Given the description of an element on the screen output the (x, y) to click on. 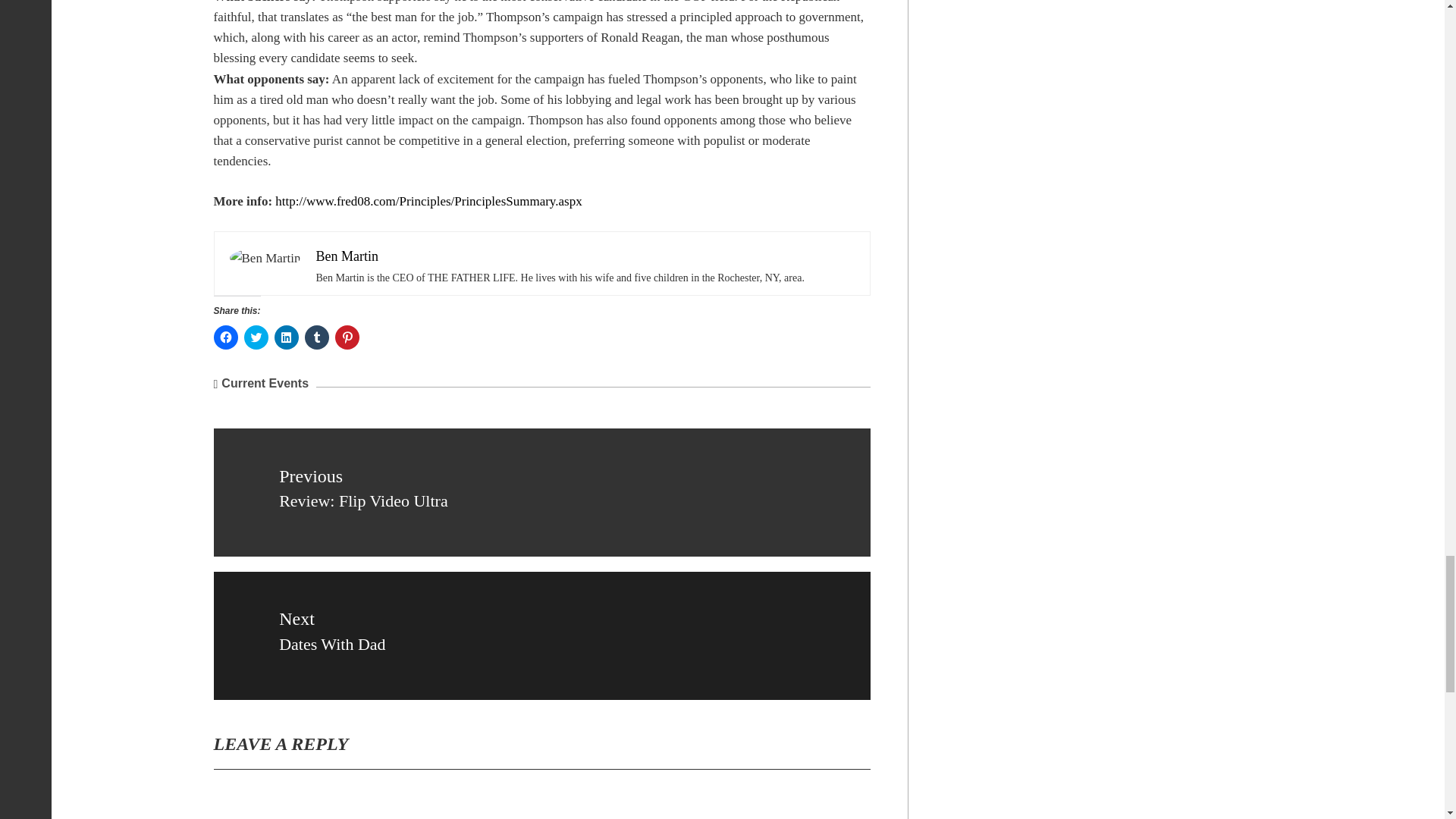
Click to share on Pinterest (346, 337)
Click to share on Facebook (226, 337)
Click to share on Twitter (255, 337)
Click to share on Tumblr (316, 337)
Click to share on LinkedIn (286, 337)
Comment Form (542, 801)
